Given the description of an element on the screen output the (x, y) to click on. 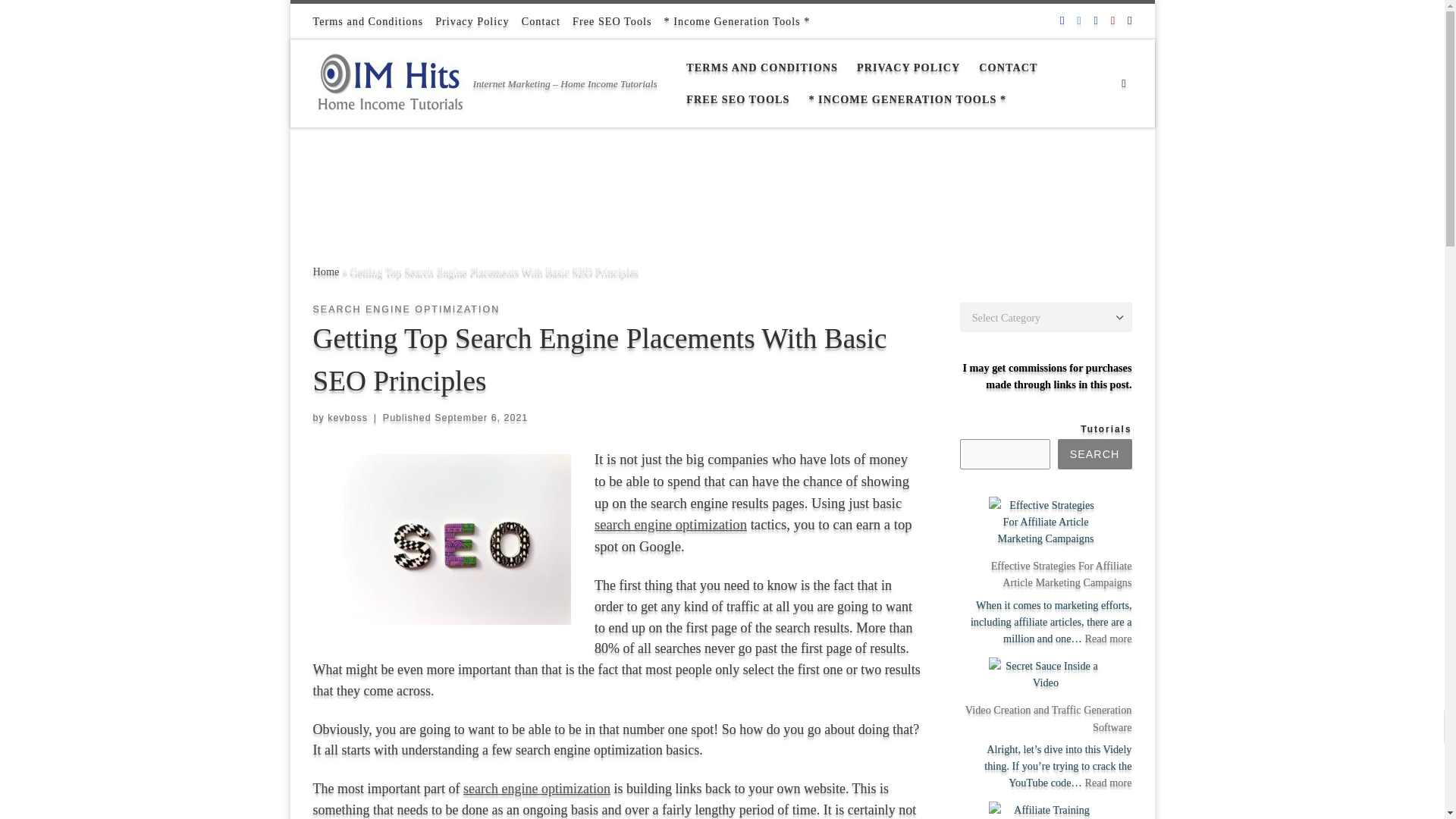
View all posts in Search Engine Optimization (406, 309)
TERMS AND CONDITIONS (762, 67)
Home (326, 271)
CONTACT (1008, 67)
Privacy Policy (472, 21)
SEARCH ENGINE OPTIMIZATION (406, 309)
Free SEO Tools (612, 21)
Skip to content (57, 20)
kevboss (347, 417)
Contact (540, 21)
